Given the description of an element on the screen output the (x, y) to click on. 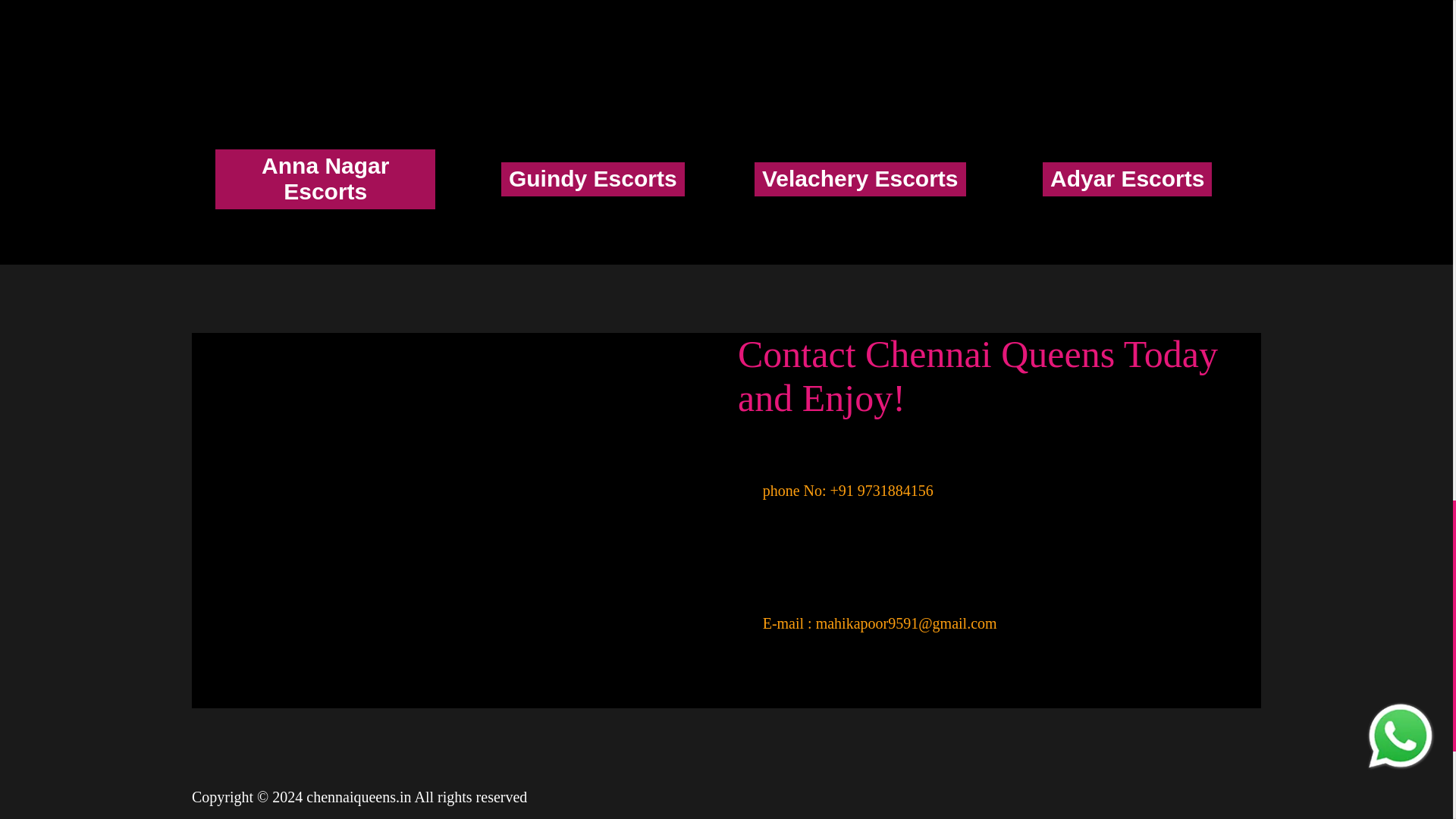
T Nagar Escorts (458, 35)
Escort Service in Anna Nagar (325, 179)
Escort Service in Guindy (592, 179)
Escort Service Gemini Circle (993, 35)
Anna Nagar Escorts (325, 179)
Velachery Escorts (860, 179)
Escort Service in Adyar (1128, 179)
Guindy Escorts (592, 179)
Escort Services in Velachery (860, 179)
Gemini Circle Escorts (993, 35)
